Given the description of an element on the screen output the (x, y) to click on. 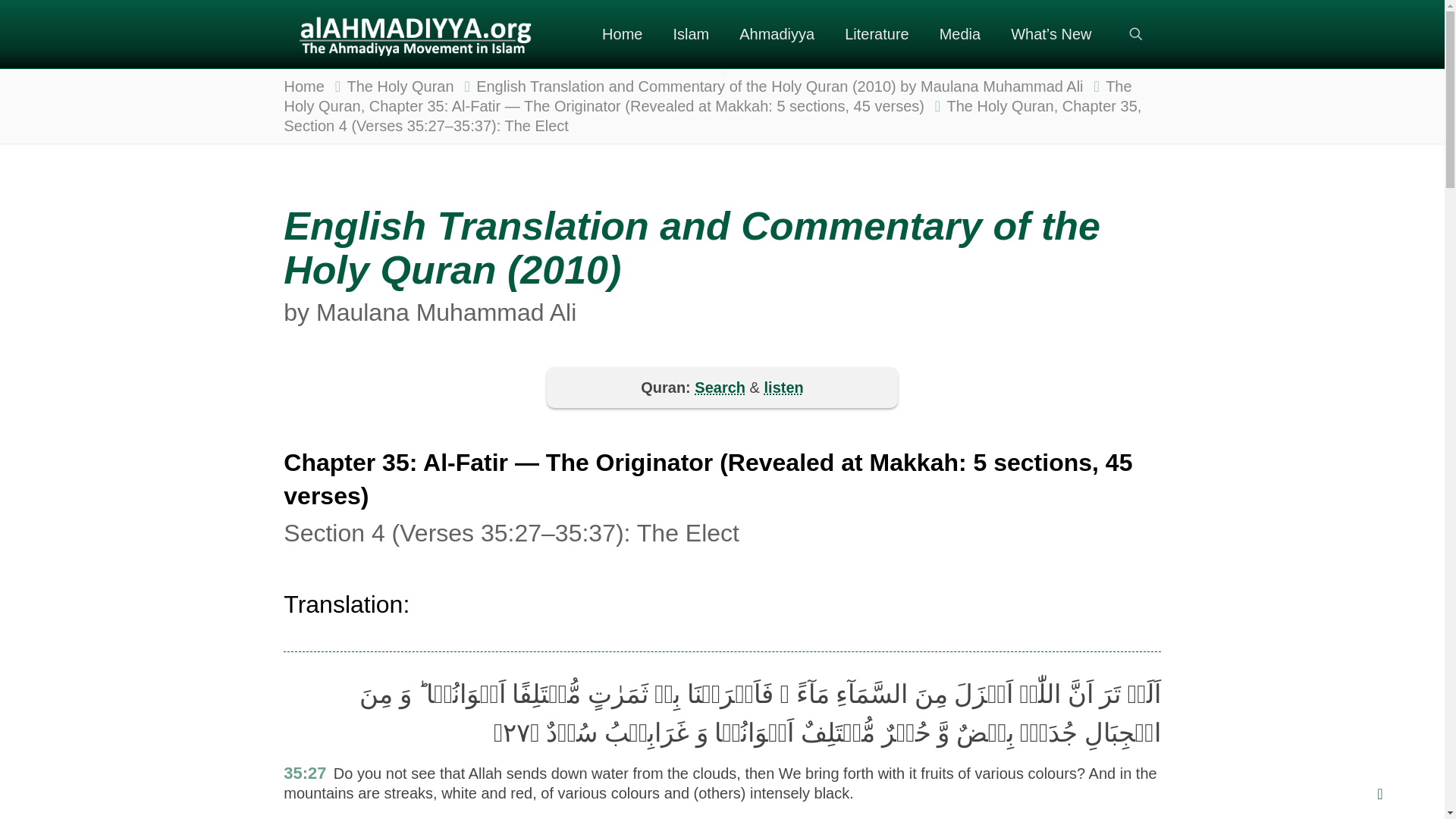
alahmadiyya.org (414, 33)
Islam (690, 33)
Ahmadiyya (776, 33)
Literature (876, 33)
The Ahmadiyya Movement in Islam (776, 33)
Home (622, 33)
